Given the description of an element on the screen output the (x, y) to click on. 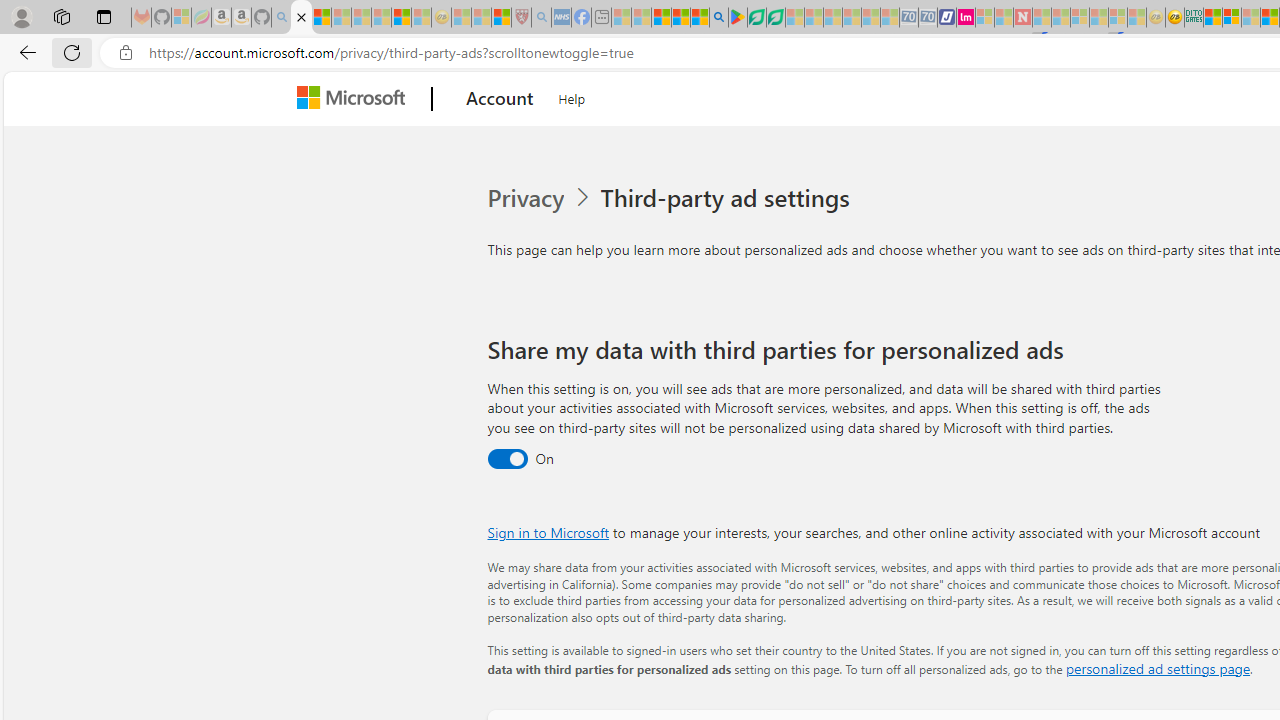
Local - MSN (500, 17)
